Given the description of an element on the screen output the (x, y) to click on. 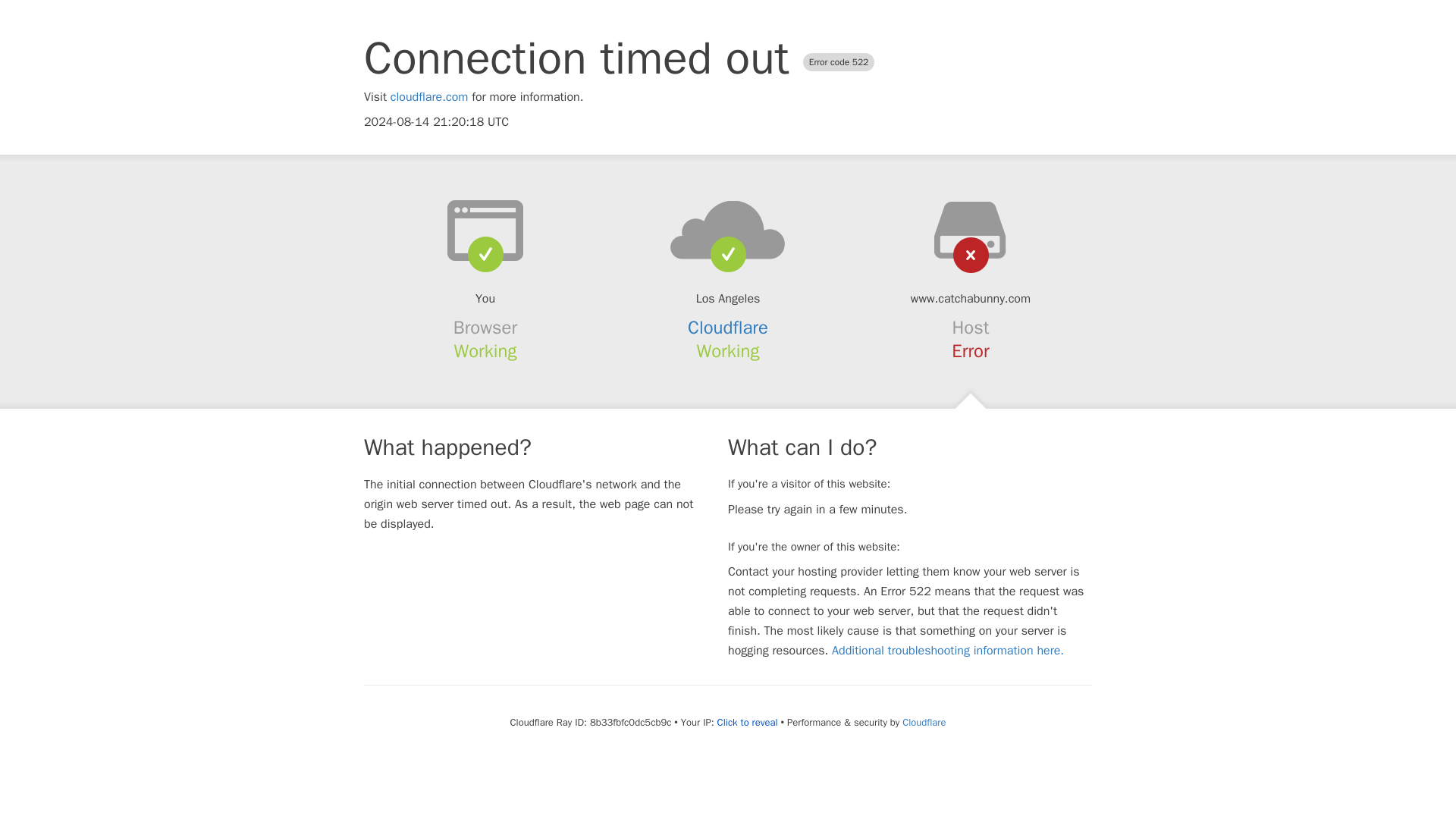
cloudflare.com (429, 96)
Cloudflare (923, 721)
Cloudflare (727, 327)
Additional troubleshooting information here. (947, 650)
Click to reveal (747, 722)
